Given the description of an element on the screen output the (x, y) to click on. 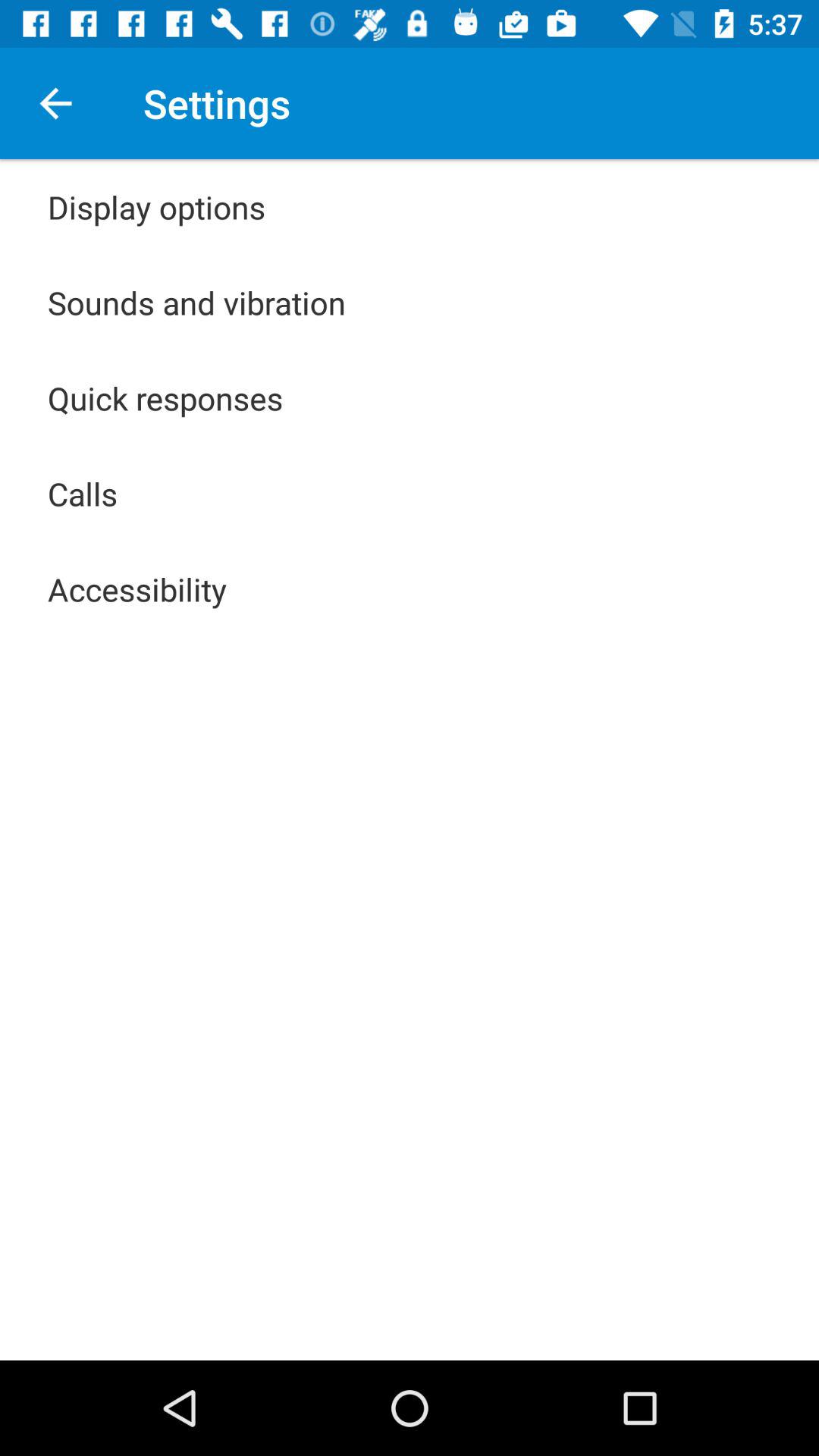
click accessibility icon (136, 588)
